Given the description of an element on the screen output the (x, y) to click on. 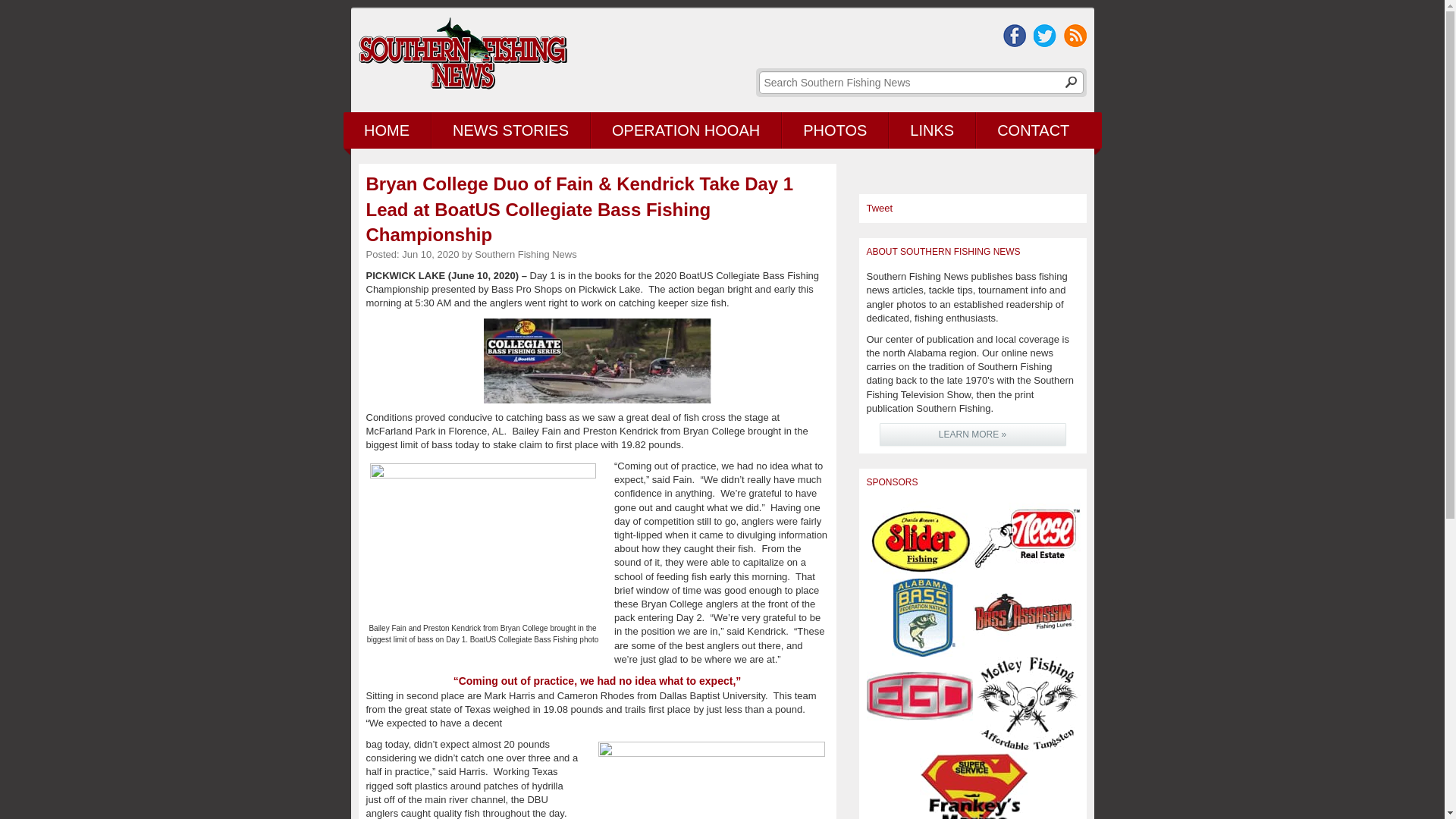
Follow Southern Fishing on Twitter (1043, 35)
Motley Fishing (1026, 703)
Bass Assassin Lures (1026, 617)
Alabama B.A.S.S Federation Nation (920, 617)
LINKS (932, 130)
HOME (385, 130)
Southern Fishing on Twitter (1043, 35)
EGO Fishing (920, 695)
Frankey's Marine (972, 785)
Neese Waterfront Realty (1026, 539)
